Given the description of an element on the screen output the (x, y) to click on. 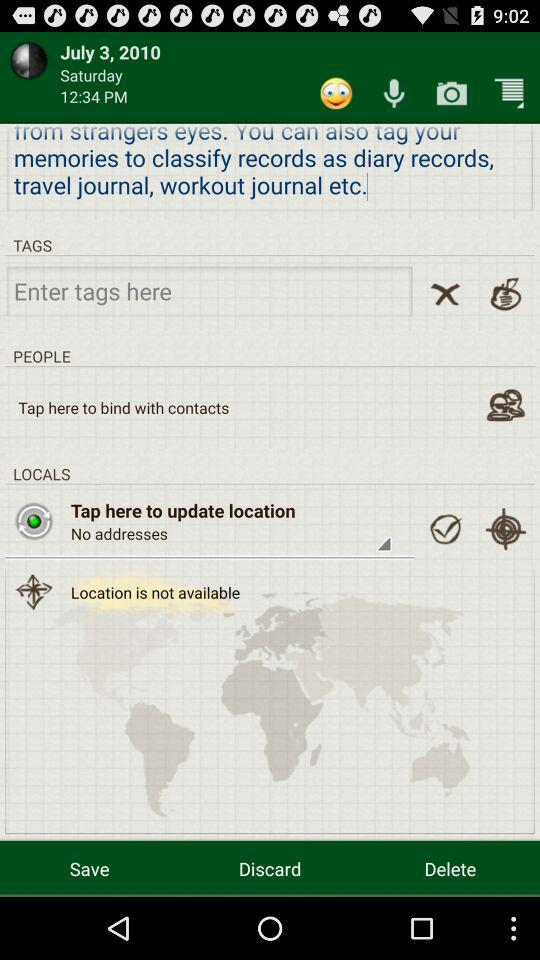
record voice input (394, 92)
